Given the description of an element on the screen output the (x, y) to click on. 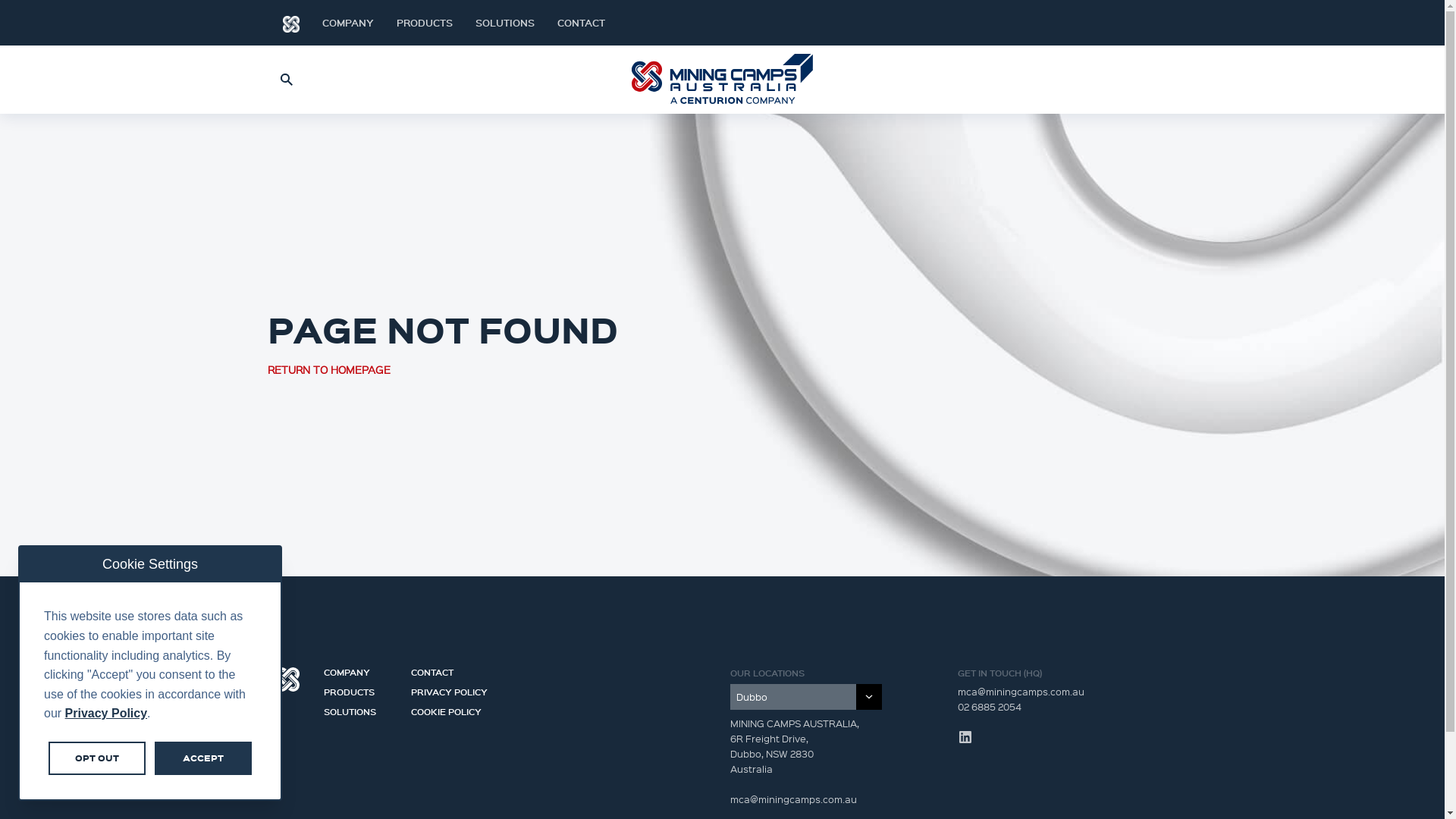
Home Element type: hover (290, 22)
LinkedIn Element type: text (1138, 22)
COMPANY Element type: text (346, 22)
COMPANY Element type: text (361, 667)
Privacy Policy Element type: text (106, 712)
CONTACT Element type: text (580, 22)
SOLUTIONS Element type: text (361, 707)
OPT OUT Element type: text (96, 758)
PRIVACY POLICY Element type: text (449, 687)
LinkedIn Element type: text (964, 736)
PRODUCTS Element type: text (361, 687)
Search Element type: text (285, 79)
PRODUCTS Element type: text (423, 22)
SOLUTIONS Element type: text (504, 22)
mca@miningcamps.com.au Element type: text (1020, 690)
RETURN TO HOMEPAGE Element type: text (327, 369)
CONTACT Element type: text (449, 667)
Centurion Group Element type: text (286, 679)
ACCEPT Element type: text (202, 758)
COOKIE POLICY Element type: text (449, 707)
